Given the description of an element on the screen output the (x, y) to click on. 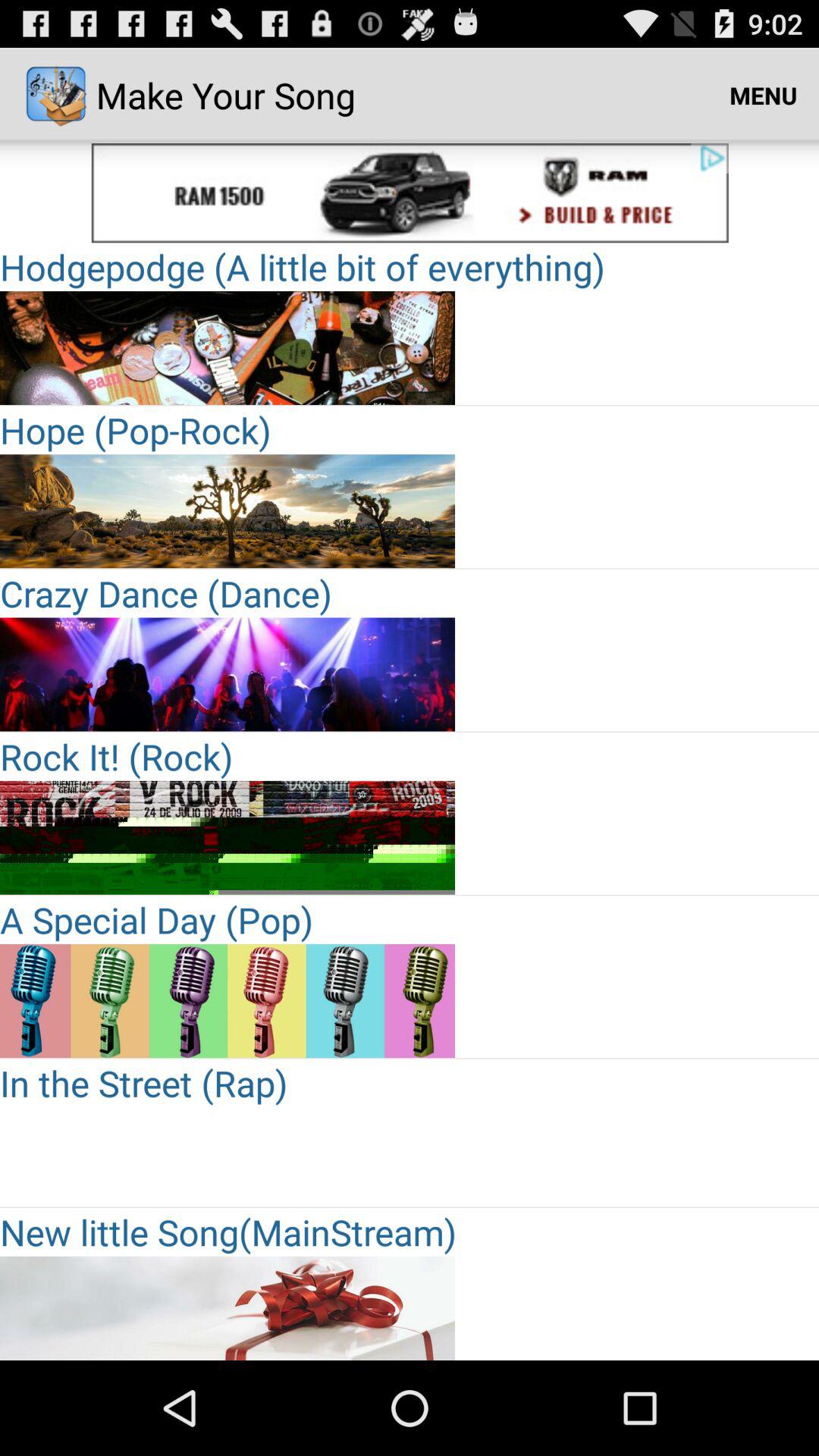
choose the selection (227, 192)
